Given the description of an element on the screen output the (x, y) to click on. 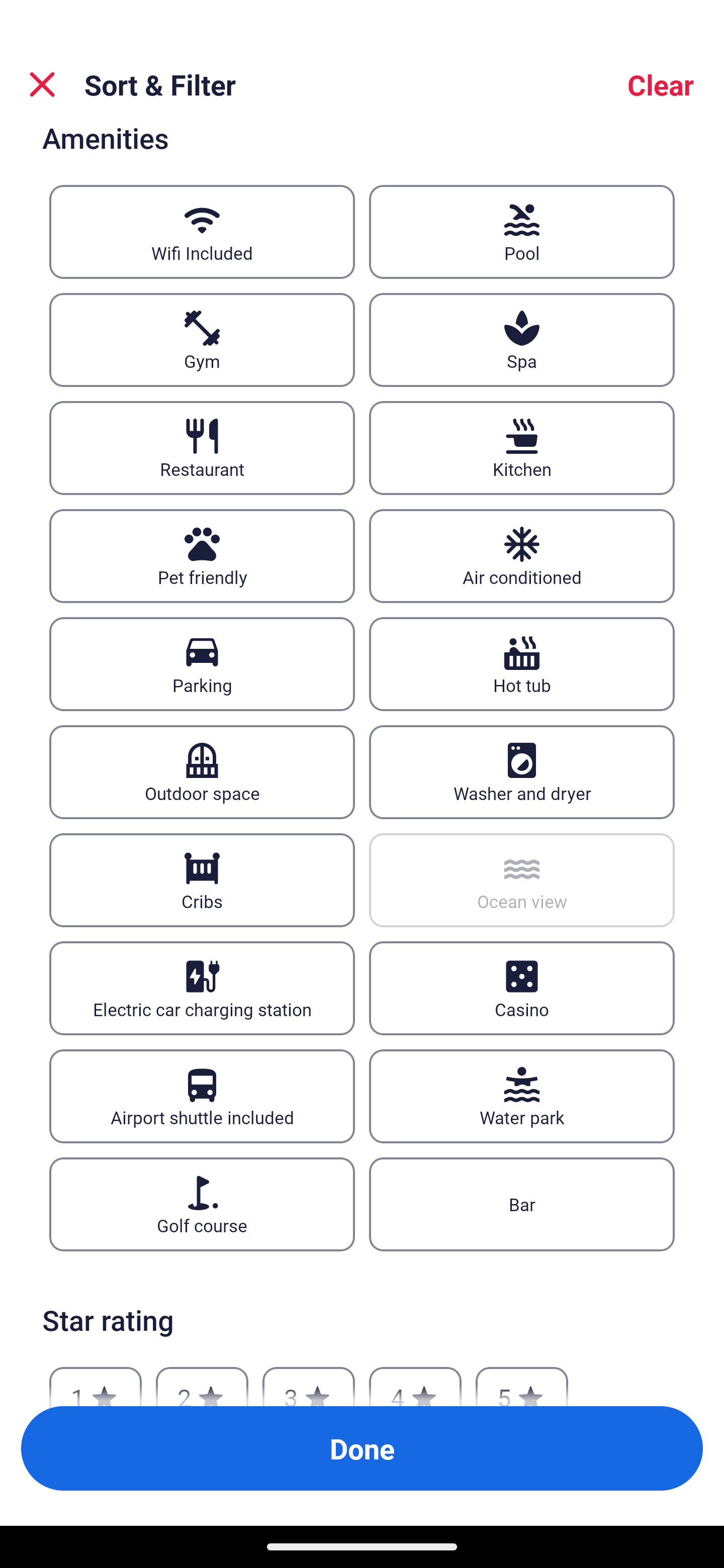
Close Sort and Filter (42, 84)
Clear (660, 84)
Wifi Included (201, 232)
Pool (521, 232)
Gym (201, 340)
Spa (521, 340)
Restaurant (201, 448)
Kitchen (521, 448)
Pet friendly (201, 556)
Air conditioned (521, 556)
Parking (201, 664)
Hot tub (521, 664)
Outdoor space (201, 771)
Washer and dryer (521, 771)
Cribs (201, 879)
Ocean view (521, 879)
Electric car charging station (201, 987)
Casino (521, 987)
Airport shuttle included (201, 1095)
Water park (521, 1095)
Golf course (201, 1204)
Bar (521, 1204)
Apply and close Sort and Filter Done (361, 1448)
